Given the description of an element on the screen output the (x, y) to click on. 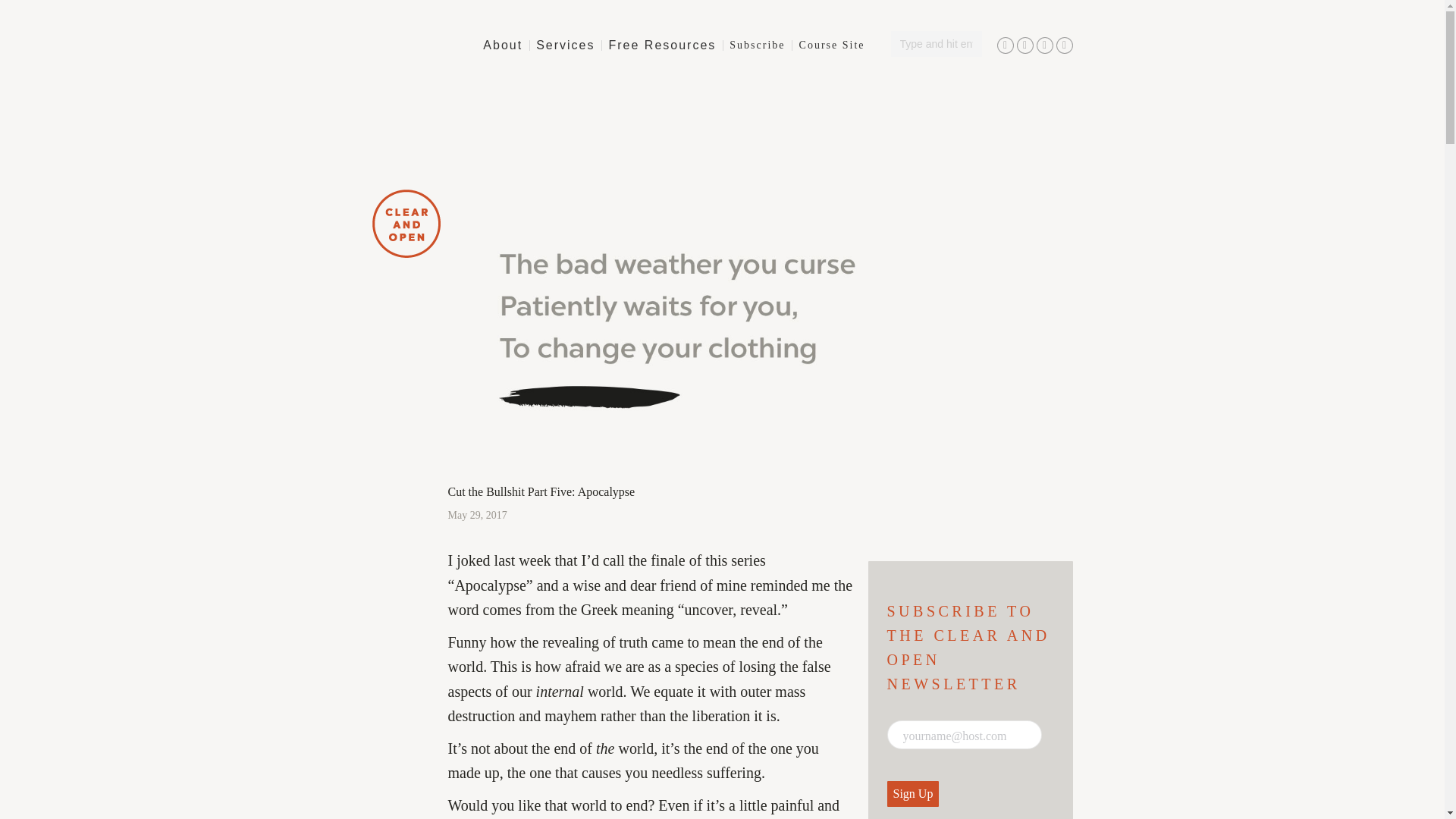
Services (564, 44)
Free Resources (662, 44)
Linkedin page opens in new window (1024, 45)
Facebook page opens in new window (1004, 45)
Instagram page opens in new window (1043, 45)
Course Site (831, 44)
Go! (21, 12)
Facebook page opens in new window (1004, 45)
X page opens in new window (1063, 45)
Sign Up (912, 793)
Instagram page opens in new window (1043, 45)
Subscribe (756, 44)
X page opens in new window (1063, 45)
Linkedin page opens in new window (1024, 45)
